Given the description of an element on the screen output the (x, y) to click on. 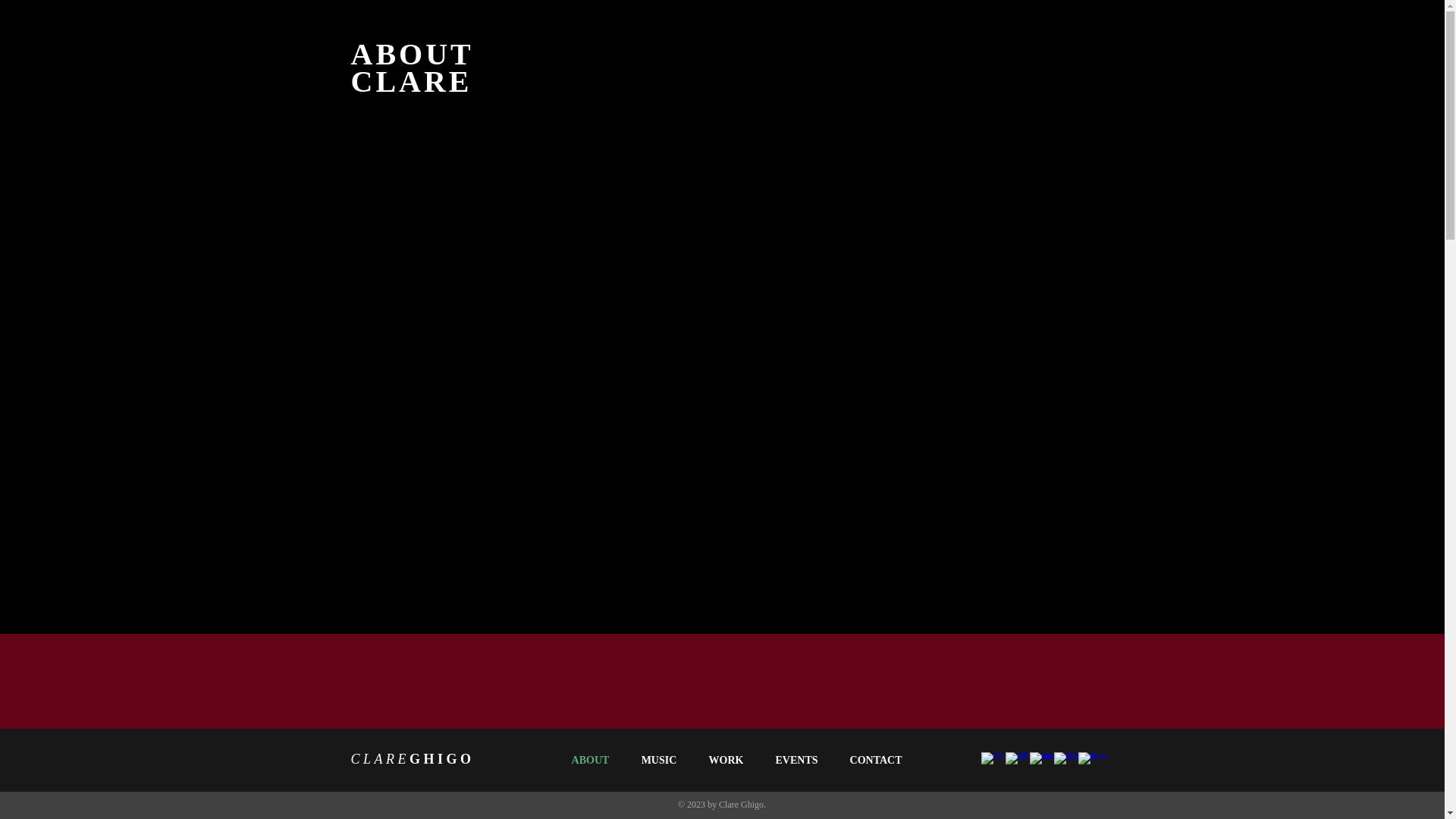
CLAREGHIGO (412, 758)
CONTACT (876, 759)
ABOUT (589, 759)
EVENTS (797, 759)
